Given the description of an element on the screen output the (x, y) to click on. 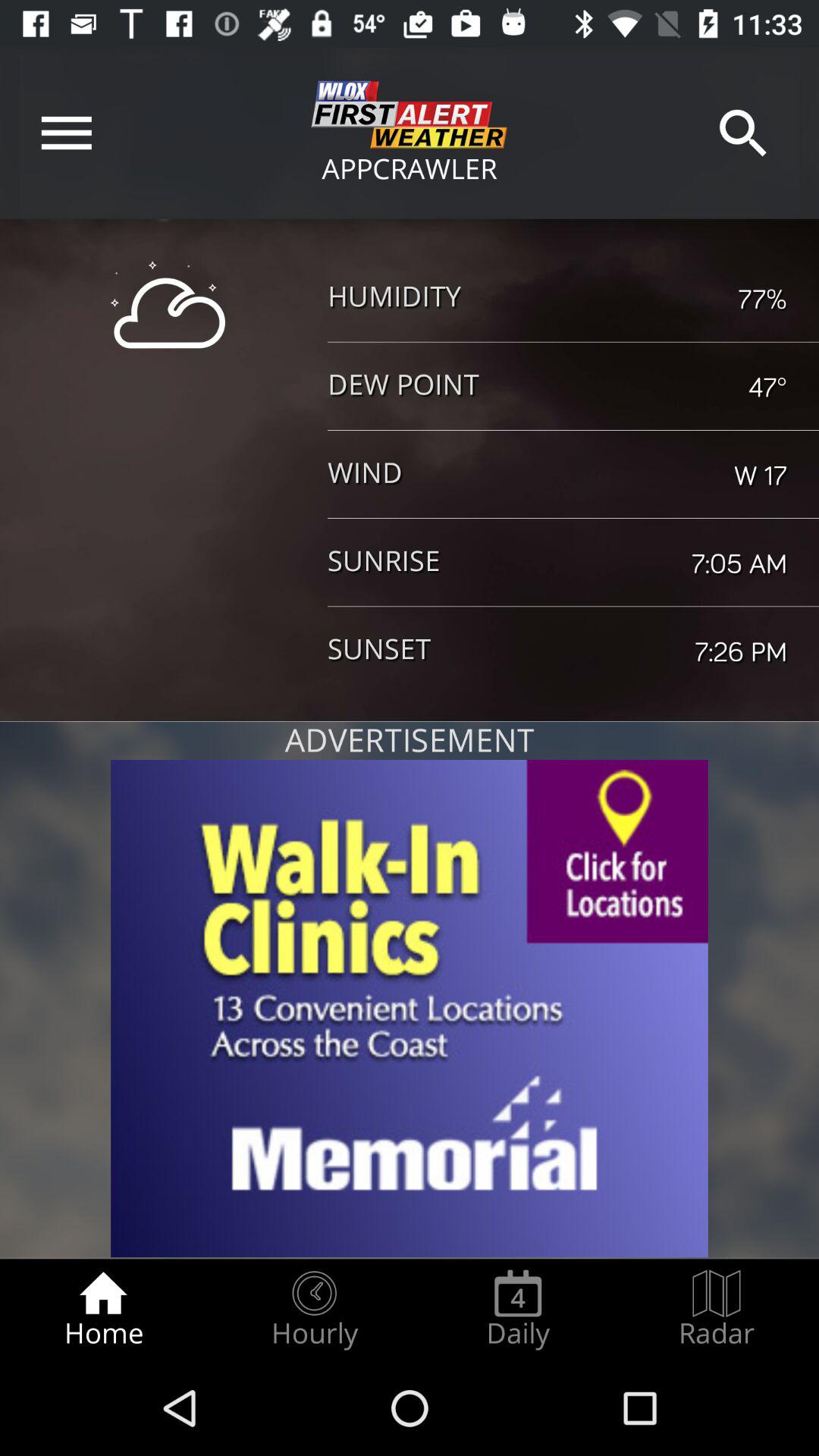
turn on item next to the hourly radio button (103, 1309)
